Given the description of an element on the screen output the (x, y) to click on. 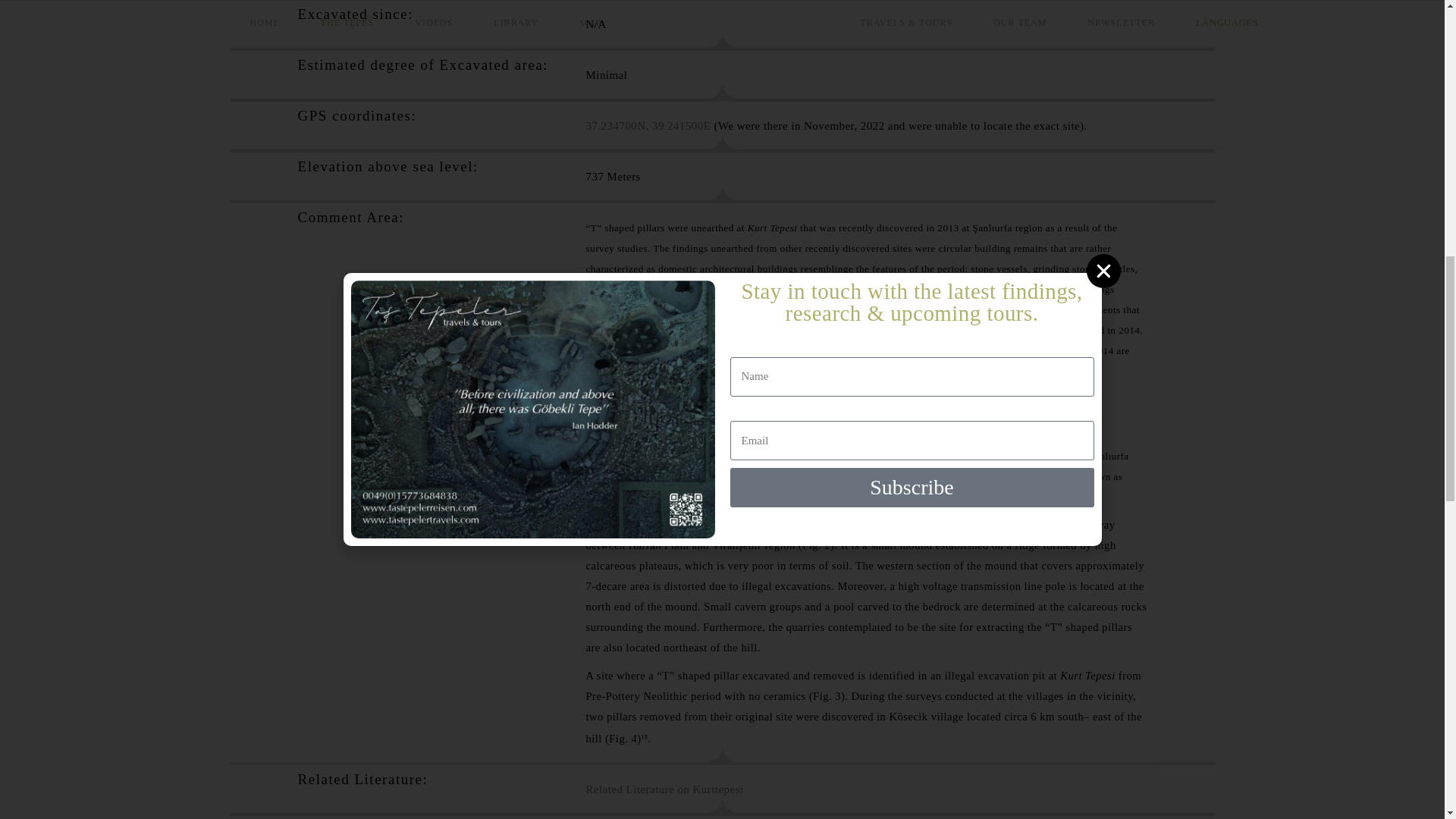
Page 6 (866, 632)
